Given the description of an element on the screen output the (x, y) to click on. 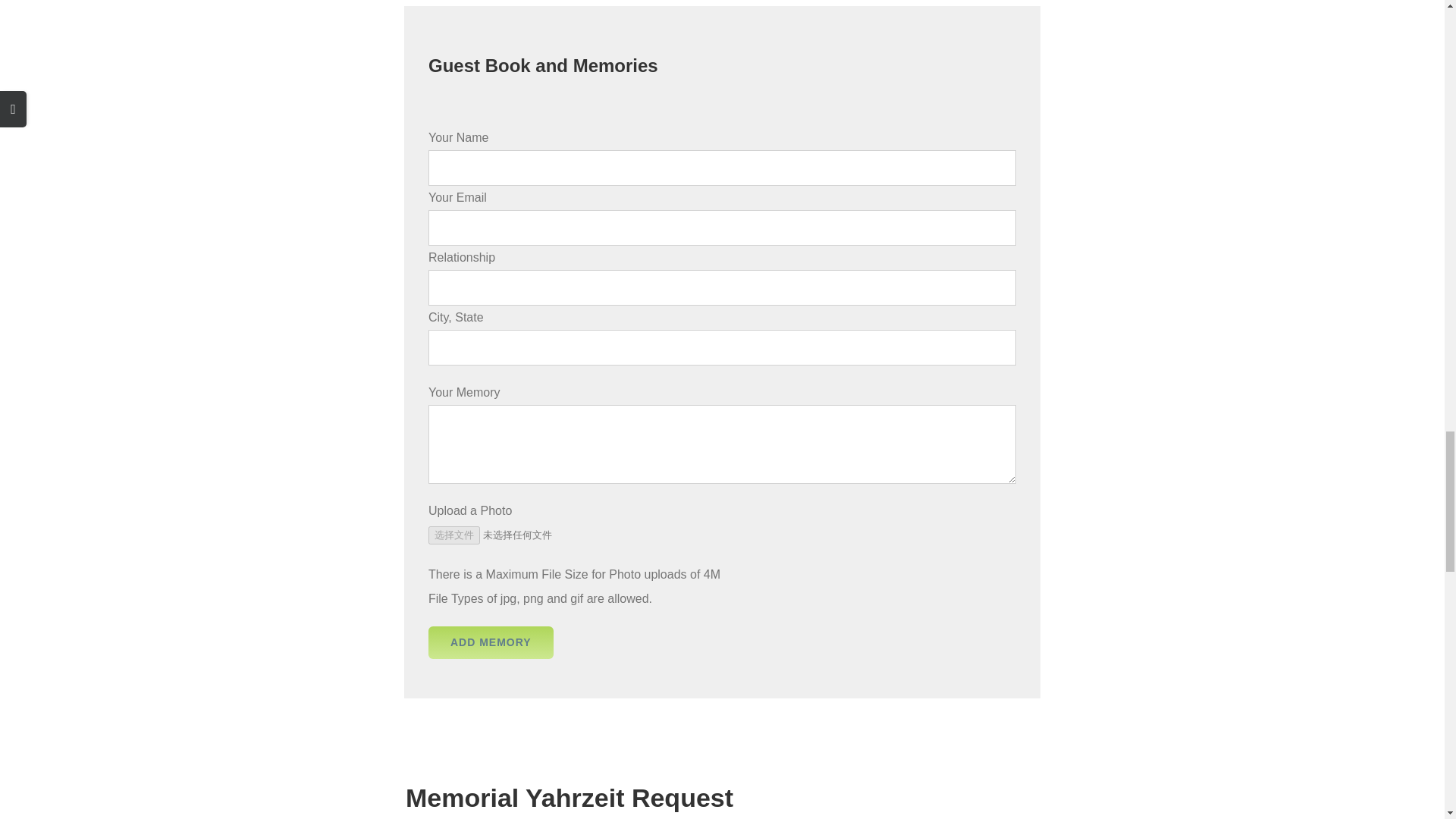
Add Memory (490, 642)
